Given the description of an element on the screen output the (x, y) to click on. 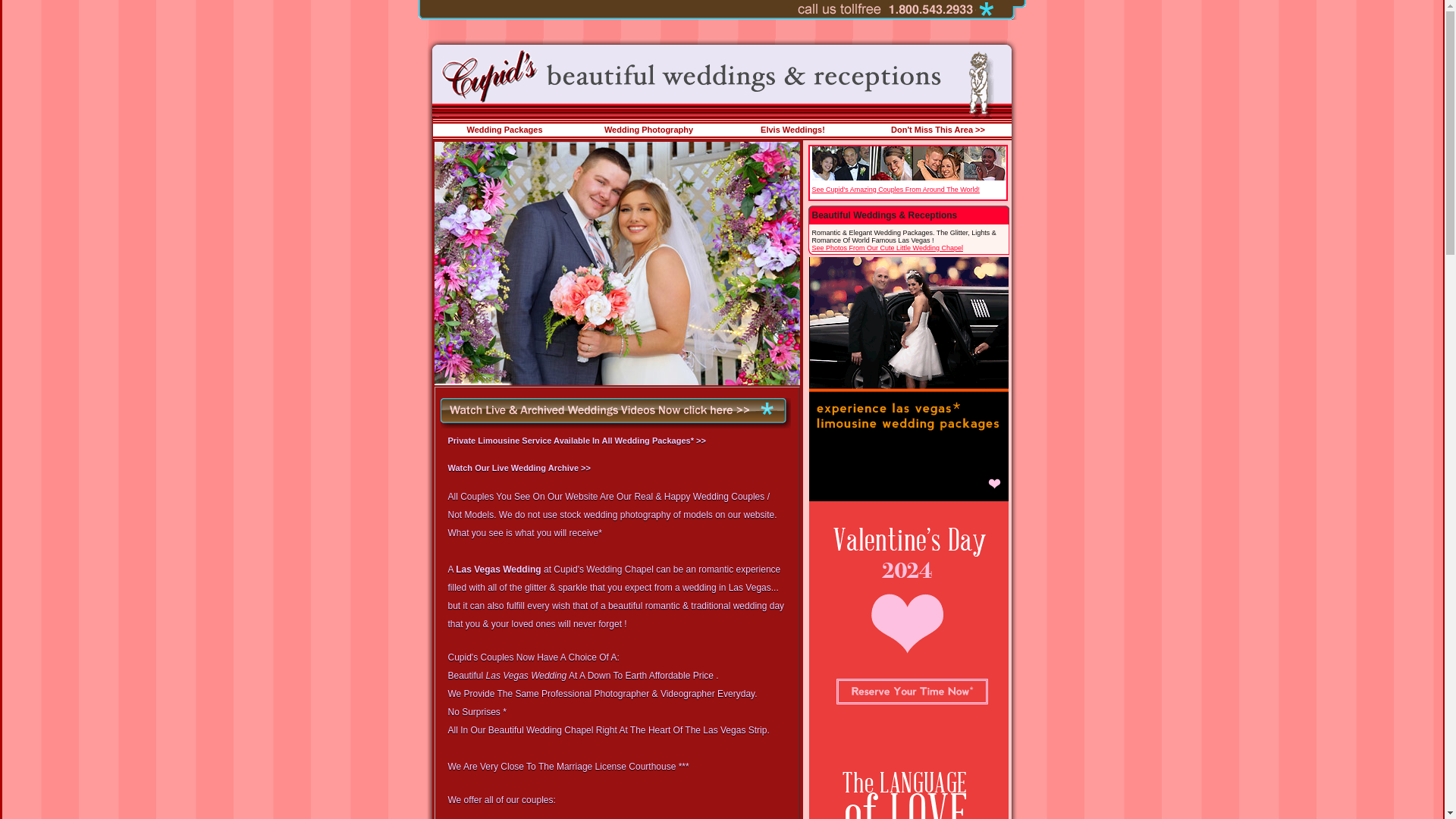
Wedding Packages (503, 129)
Wedding Photography (648, 129)
Elvis Weddings! (792, 129)
See Photos From Our Cute Little Wedding Chapel (886, 247)
See Cupid's Amazing Couples From Around The World! (894, 189)
